Given the description of an element on the screen output the (x, y) to click on. 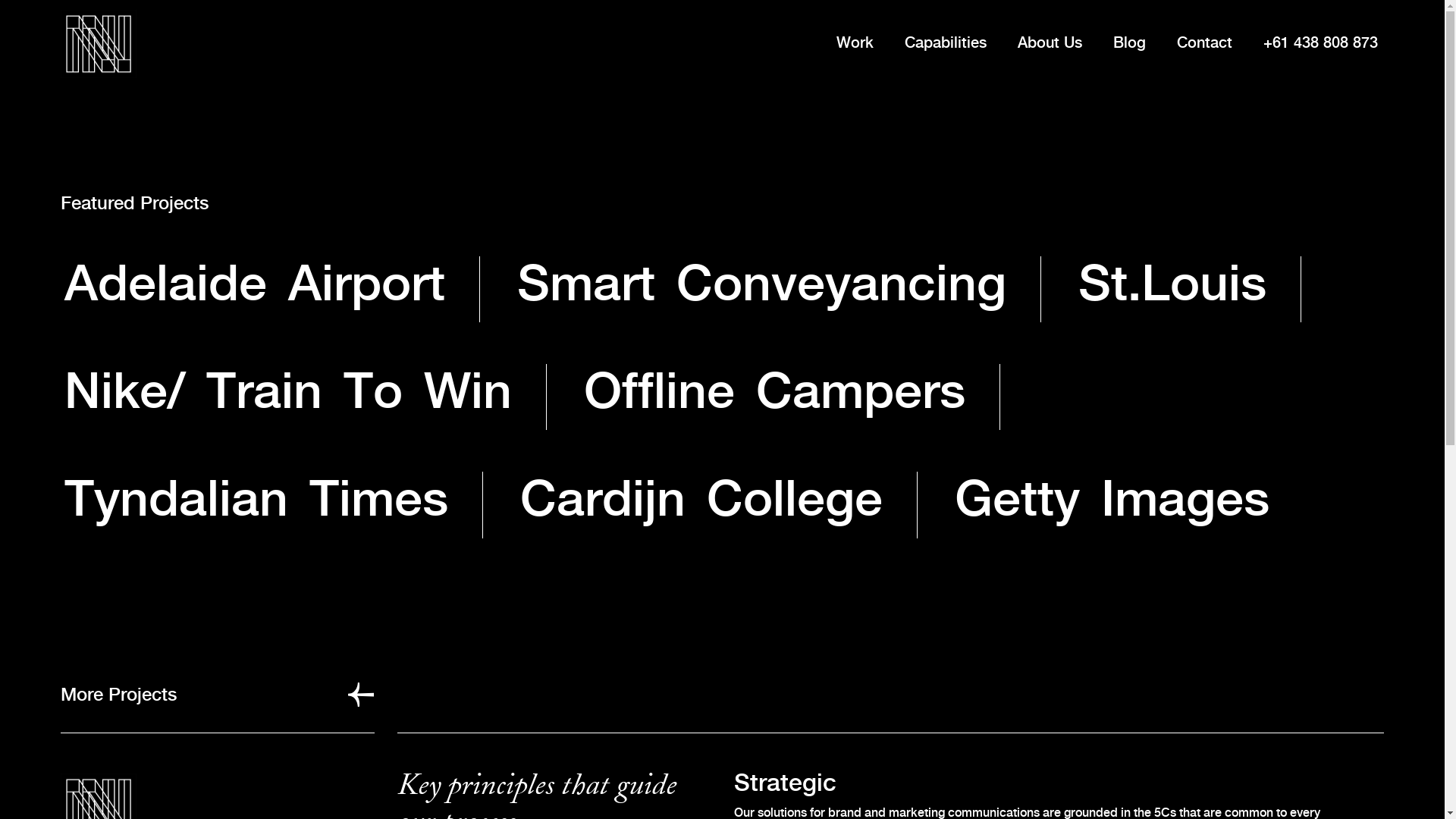
Smart Conveyancing Element type: text (761, 286)
About Us Element type: text (1049, 43)
Adelaide Airport Element type: text (254, 286)
Getty Images Element type: text (1111, 501)
Tyndalian Times Element type: text (255, 501)
+61 438 808 873 Element type: text (1320, 43)
Blog Element type: text (1129, 43)
Offline Campers Element type: text (774, 393)
Cardijn College Element type: text (701, 501)
More Projects Element type: text (217, 695)
St.Louis Element type: text (1172, 286)
Contact Element type: text (1204, 43)
Nike/ Train To Win Element type: text (287, 393)
Capabilities Element type: text (945, 43)
Work Element type: text (854, 43)
